Given the description of an element on the screen output the (x, y) to click on. 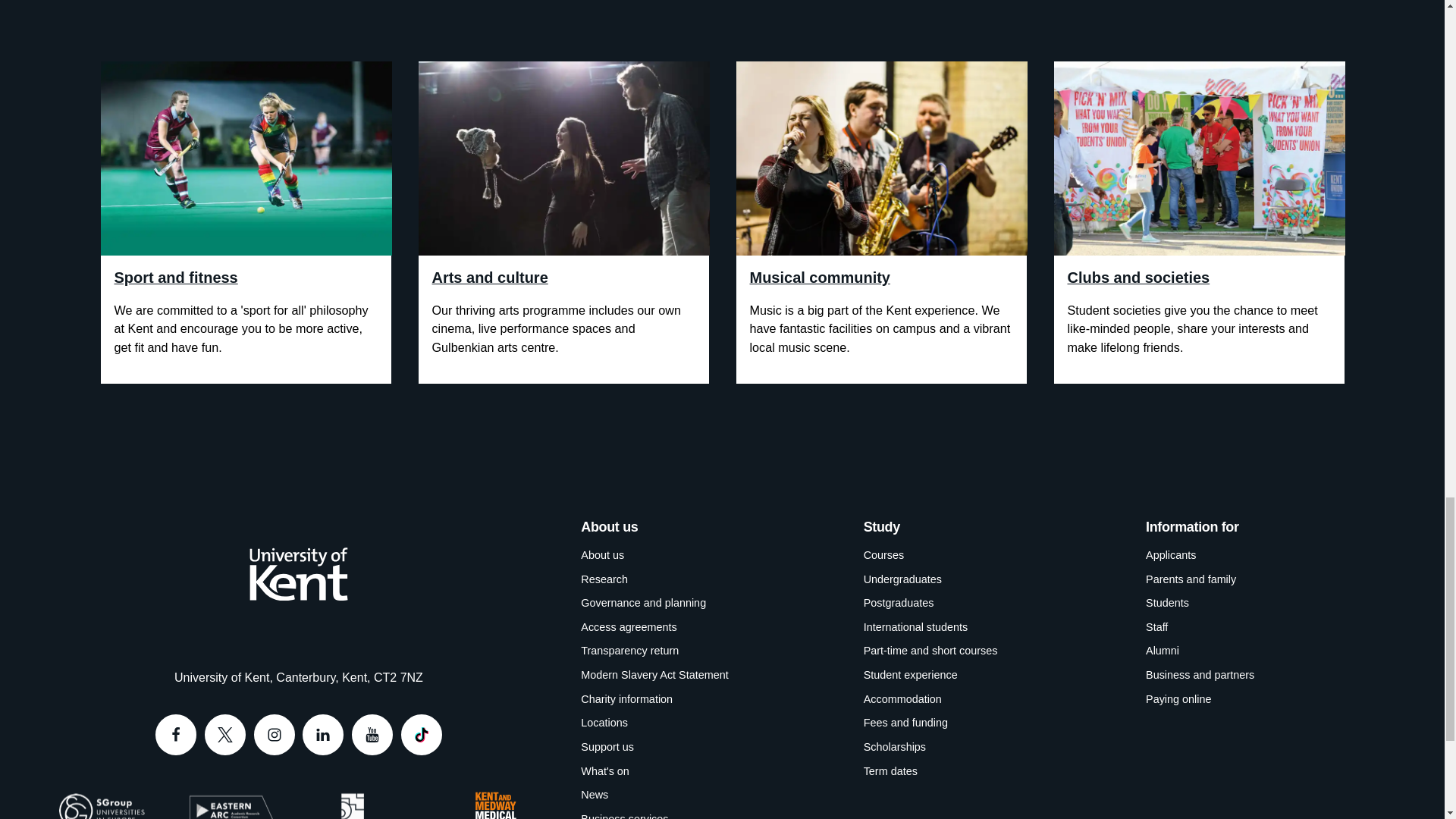
University of Kent logo (297, 573)
